Given the description of an element on the screen output the (x, y) to click on. 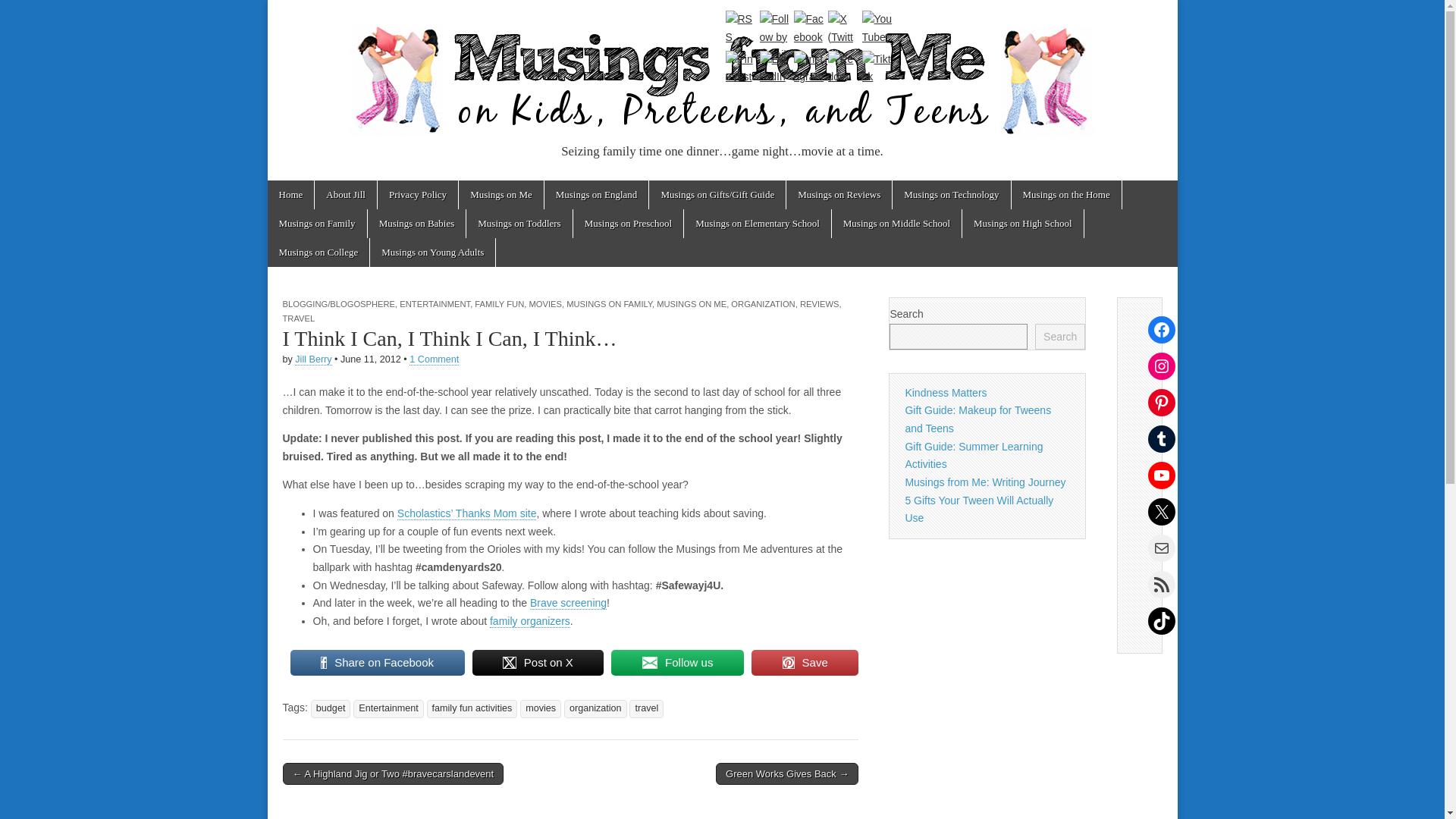
1 Comment (433, 359)
Musings on Me (500, 194)
FAMILY FUN (499, 303)
family organizers (529, 621)
TRAVEL (298, 317)
Musings on Young Adults (432, 252)
Musings on the Home (1066, 194)
ORGANIZATION (762, 303)
Musings on Family (316, 223)
